Given the description of an element on the screen output the (x, y) to click on. 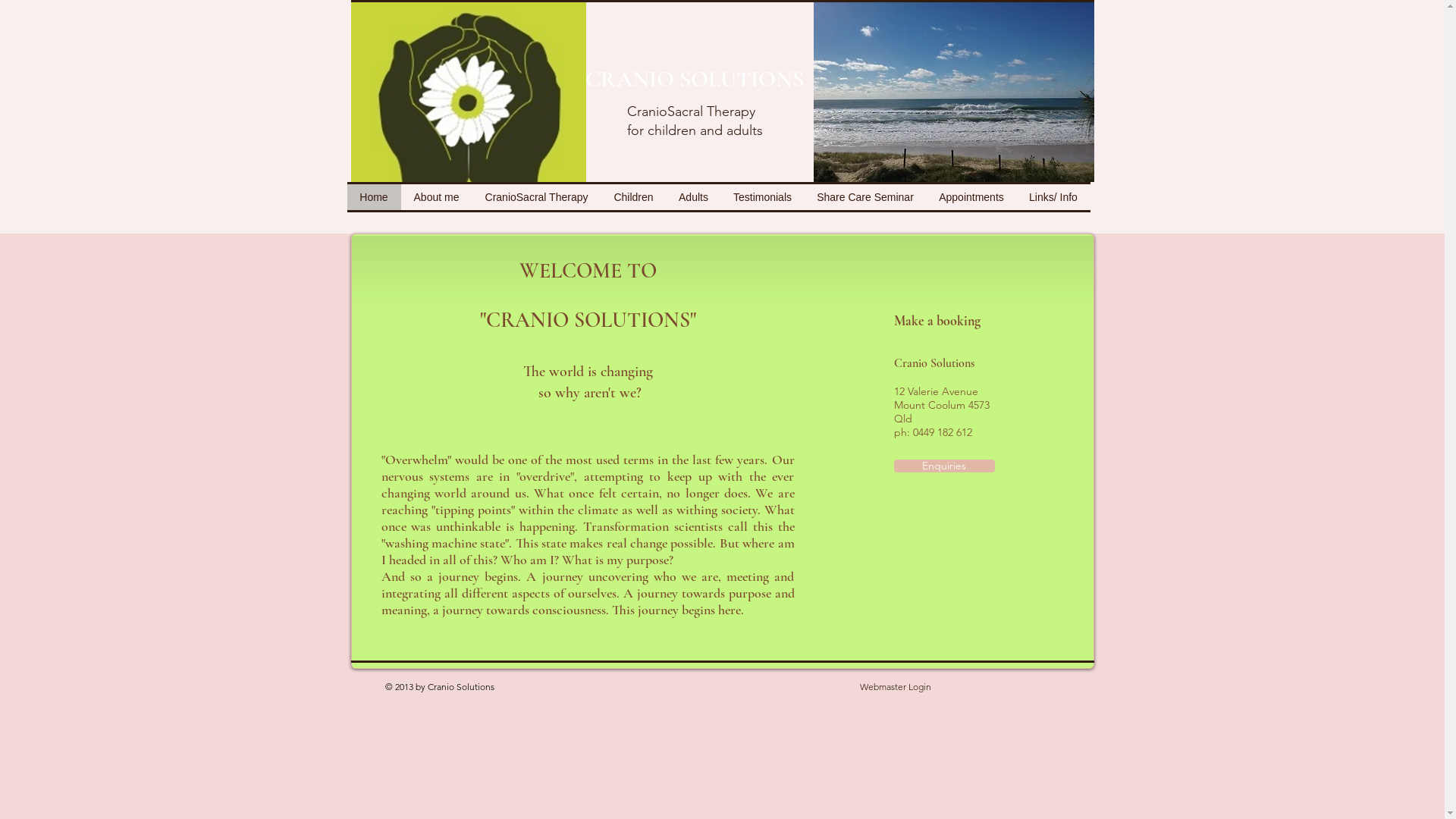
CranioSacral Therapy Element type: text (535, 197)
Share Care Seminar Element type: text (864, 197)
Links/ Info Element type: text (1052, 197)
Webmaster Login Element type: text (894, 687)
Testimonials Element type: text (761, 197)
Enquiries Element type: text (943, 465)
Children Element type: text (632, 197)
Home Element type: text (374, 197)
Appointments Element type: text (971, 197)
Adults Element type: text (692, 197)
About me Element type: text (435, 197)
